Given the description of an element on the screen output the (x, y) to click on. 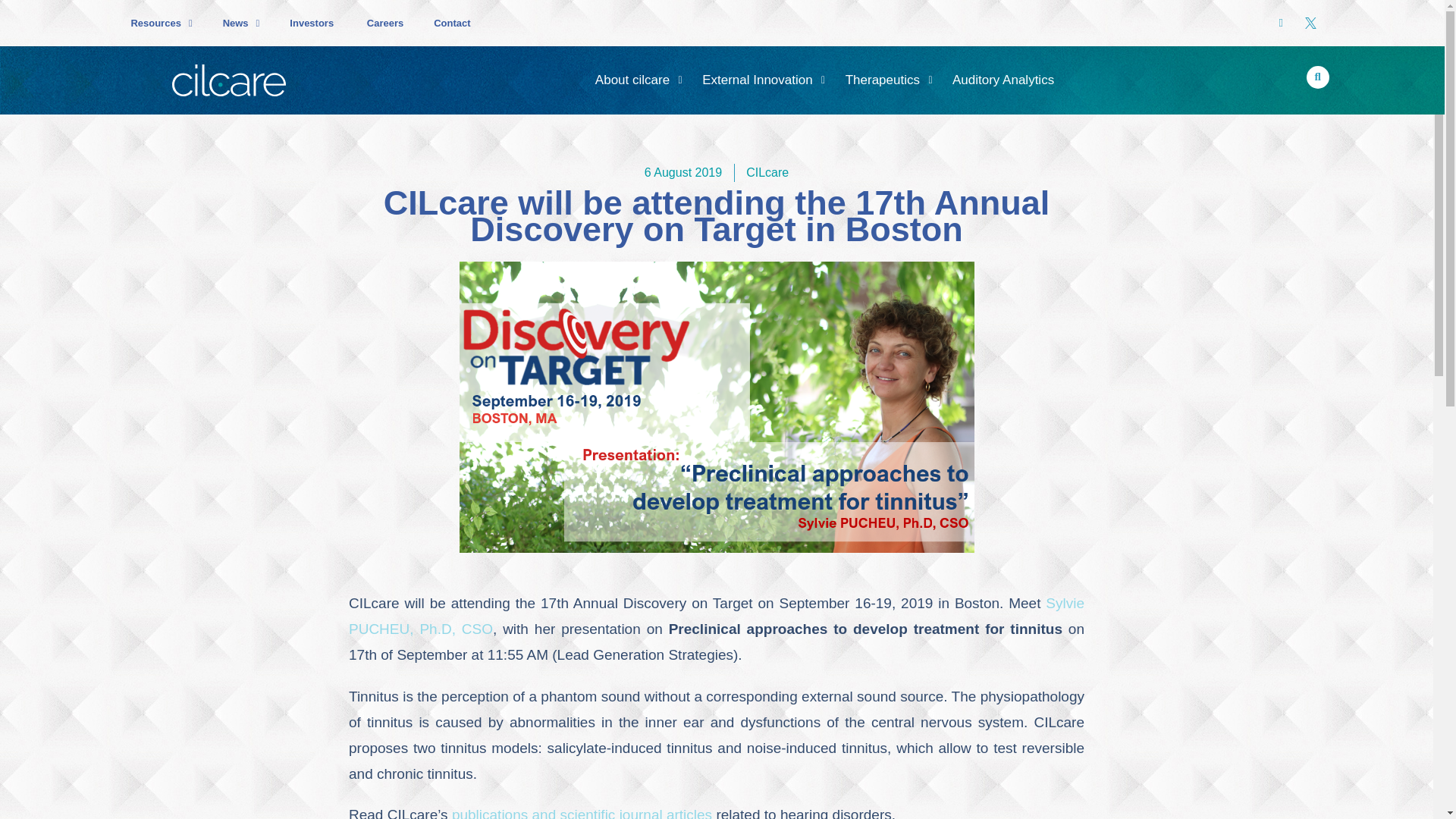
Careers (385, 22)
Investors  (312, 22)
Contact (451, 22)
Resources (160, 22)
News (241, 22)
